Given the description of an element on the screen output the (x, y) to click on. 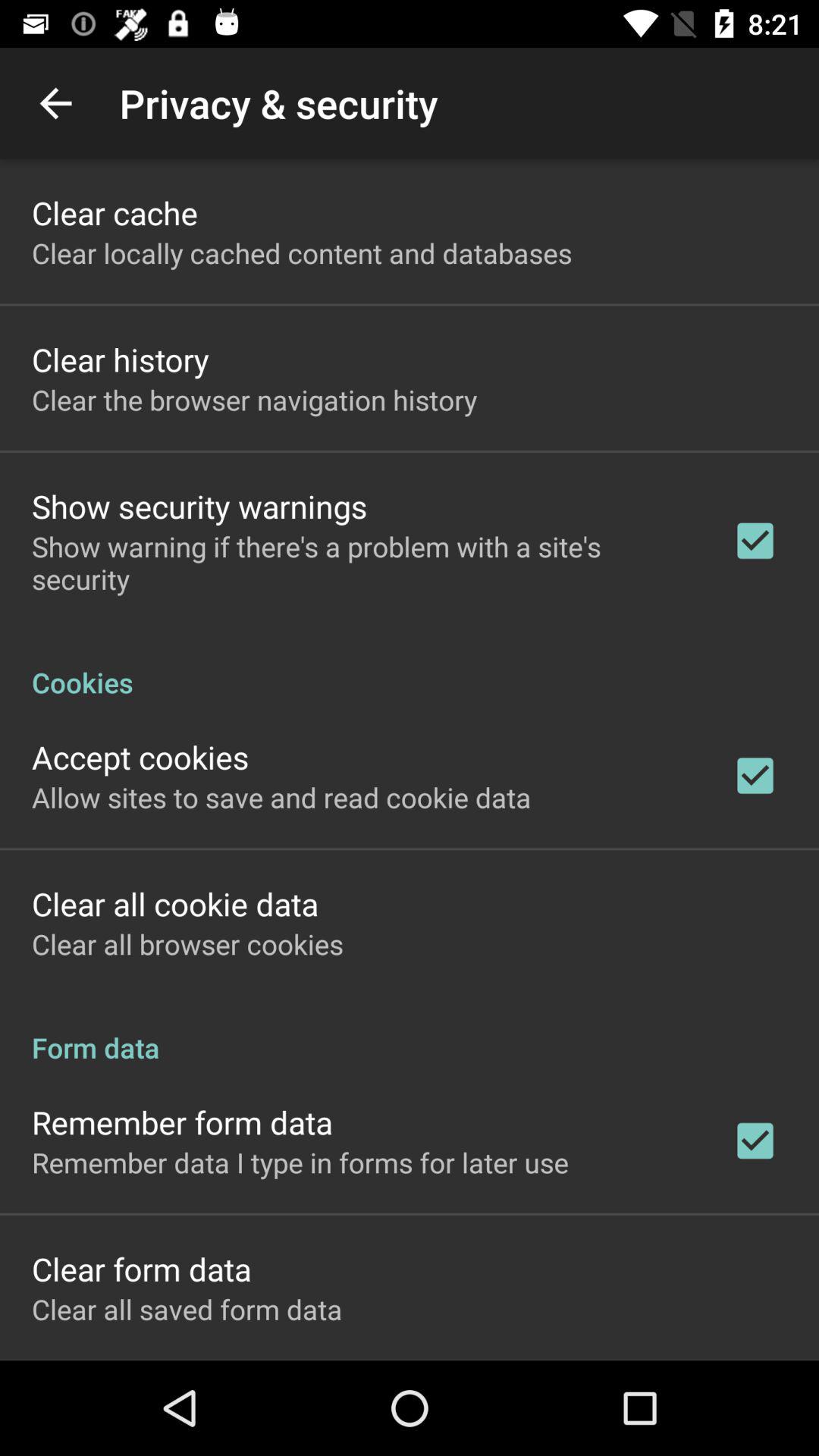
turn off show warning if (361, 562)
